Given the description of an element on the screen output the (x, y) to click on. 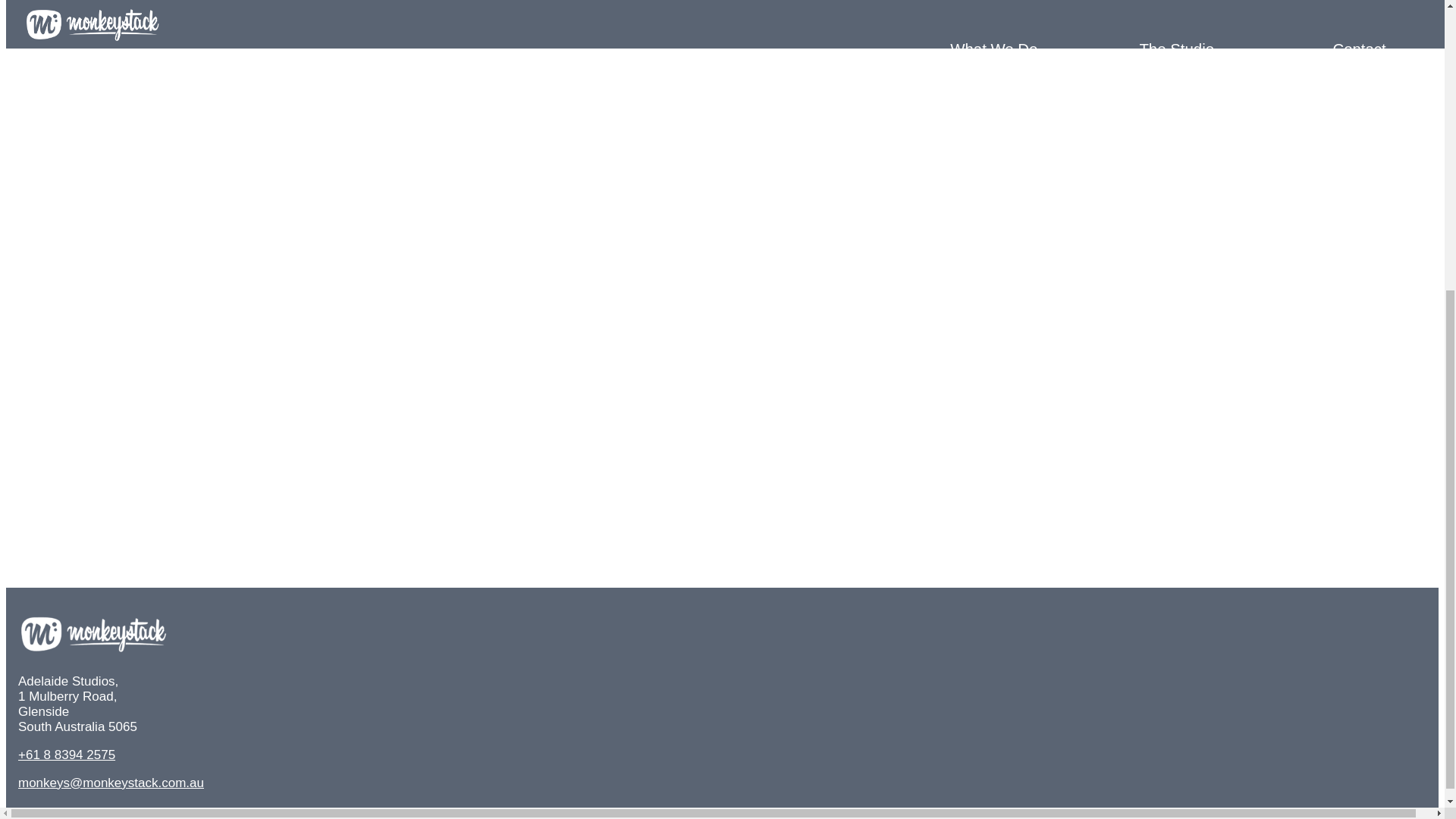
Return To What We Do (244, 634)
